Given the description of an element on the screen output the (x, y) to click on. 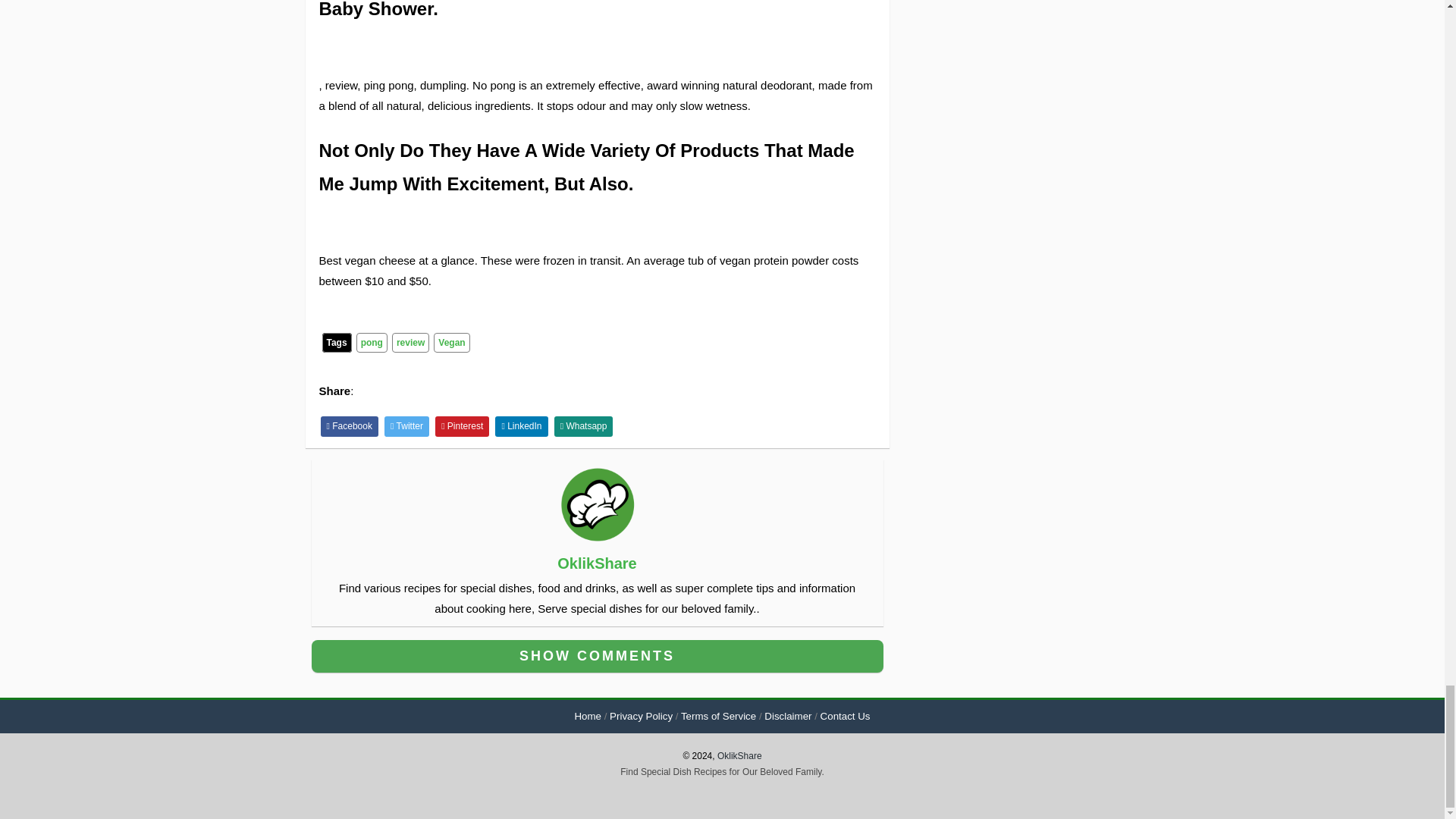
review (410, 342)
Disclaimer (787, 715)
Contact Us (845, 715)
Privacy Policy (641, 715)
OklikShare (739, 756)
pong (371, 342)
OklikShare (597, 563)
Terms of Service (718, 715)
Home (587, 715)
Vegan (450, 342)
